Given the description of an element on the screen output the (x, y) to click on. 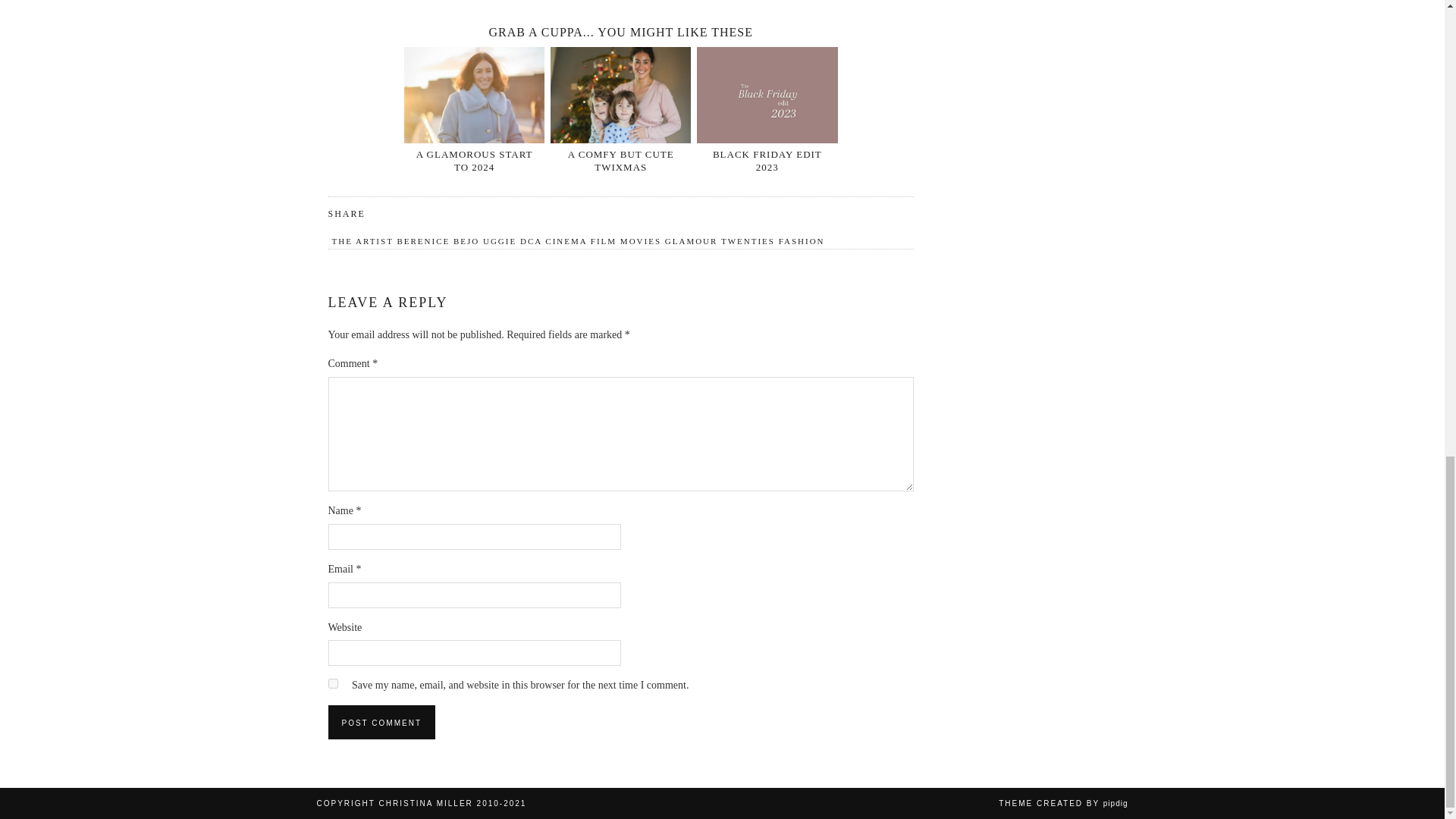
THEME CREATED BY pipdig (1062, 803)
A GLAMOROUS START TO 2024 (474, 160)
BLACK FRIDAY EDIT 2023 (767, 160)
Post Comment (380, 722)
Post Comment (380, 722)
A COMFY BUT CUTE TWIXMAS (620, 160)
yes (332, 683)
